Given the description of an element on the screen output the (x, y) to click on. 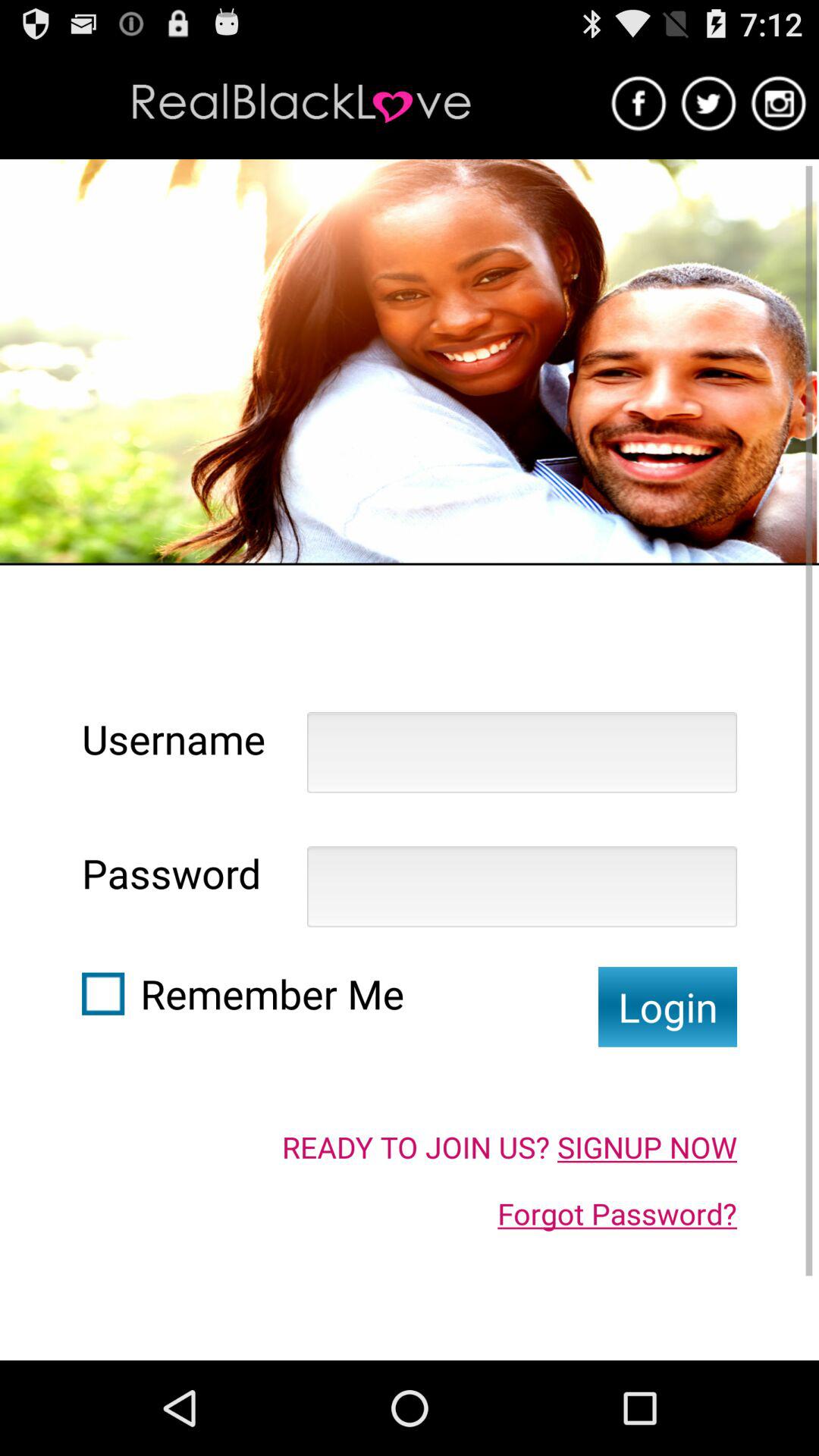
turn on the app above ready to join icon (667, 1006)
